Given the description of an element on the screen output the (x, y) to click on. 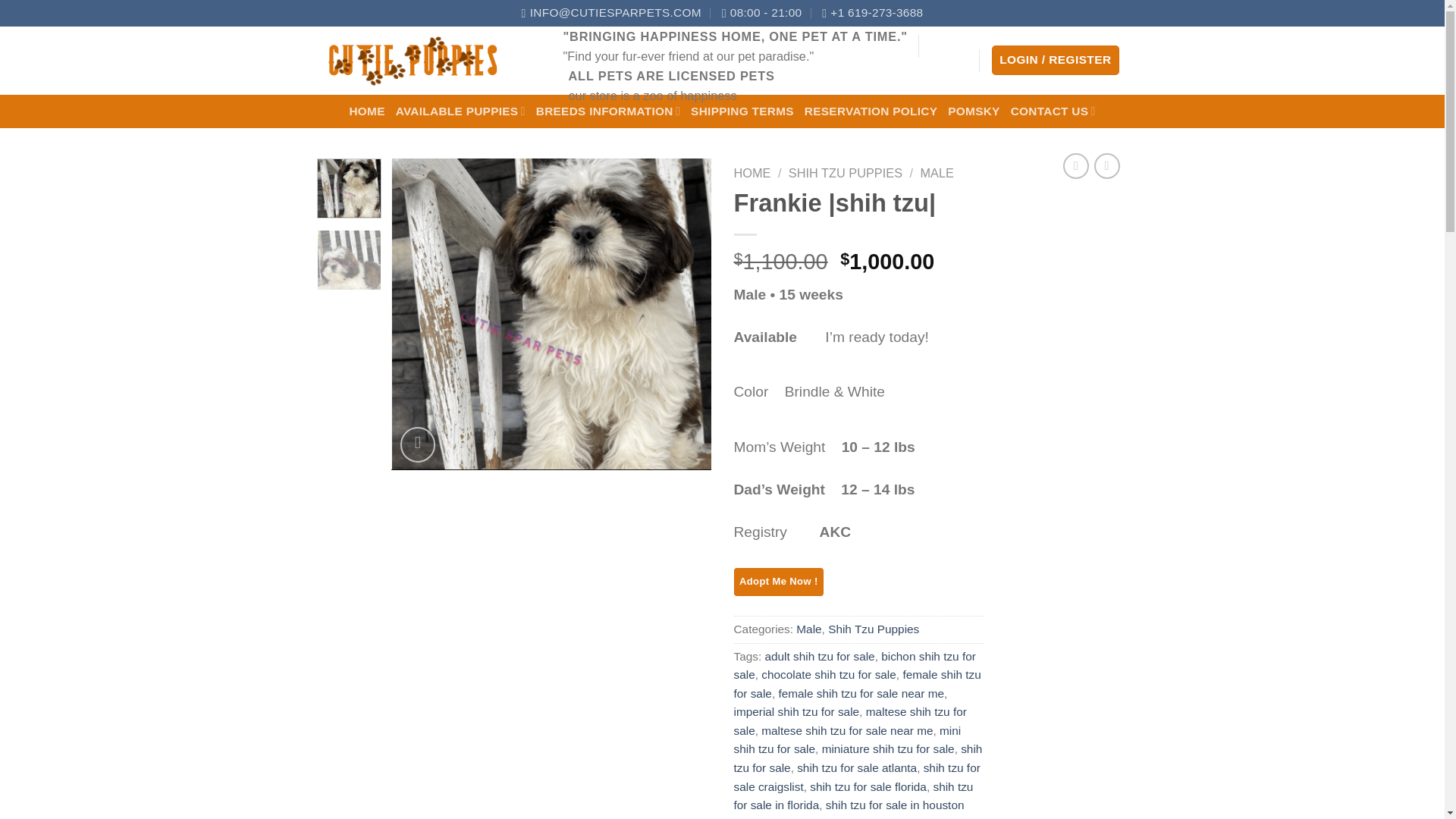
AVAILABLE PUPPIES (460, 111)
HOME (366, 111)
SHIPPING TERMS (741, 111)
RESERVATION POLICY (871, 111)
POMSKY (972, 111)
HOME (752, 172)
CONTACT US (1053, 111)
shih tzu for sale in houston texas (231, 289)
Cuties Par Pets - The Best Breeders  (432, 60)
Adopt Me Now ! (778, 582)
BREEDS INFORMATION (607, 111)
shih tzu for sale in houston texas (551, 314)
08:00 - 21:00 (762, 13)
